Given the description of an element on the screen output the (x, y) to click on. 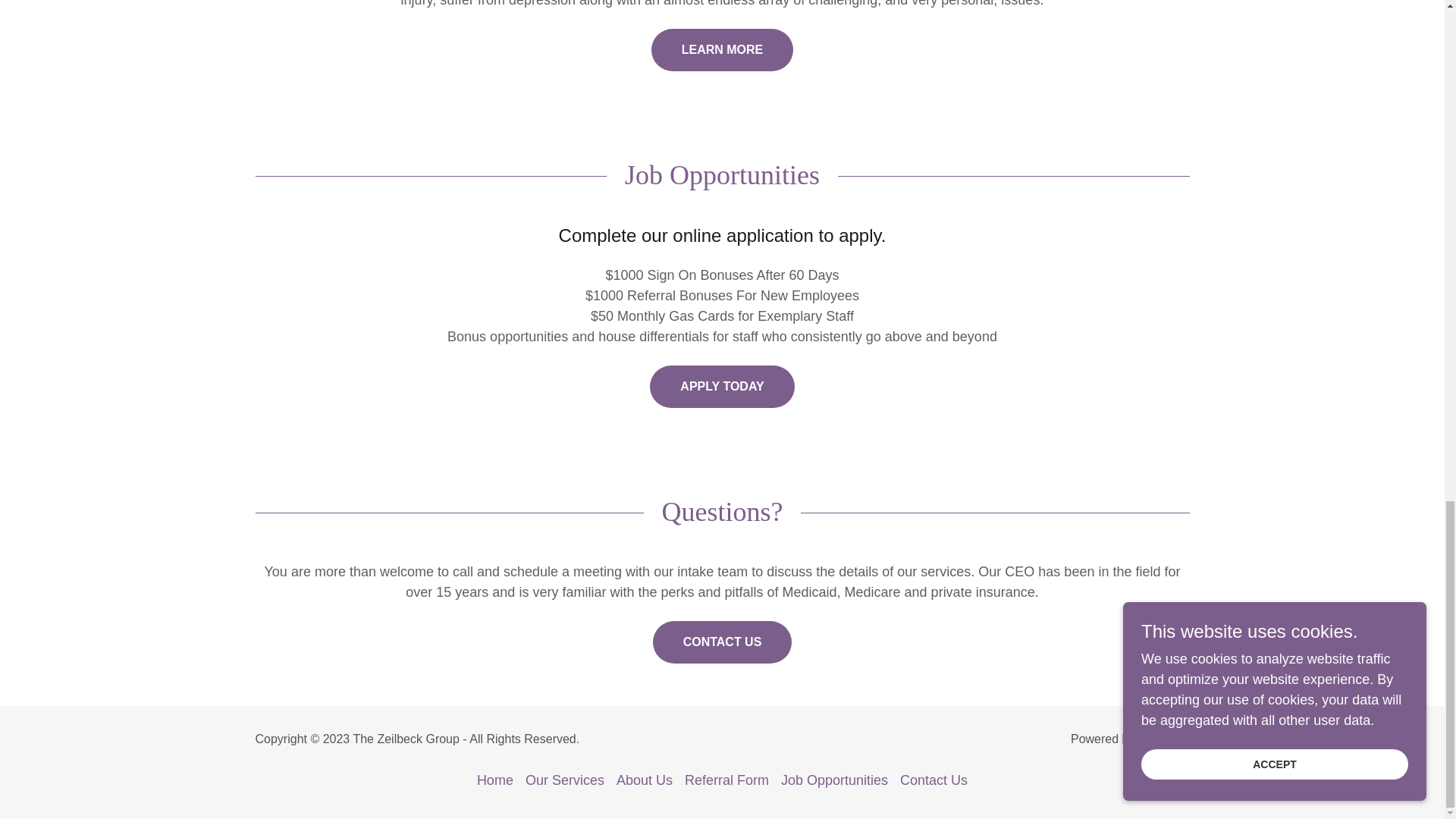
Our Services (564, 780)
Home (494, 780)
GoDaddy (1163, 738)
About Us (644, 780)
Job Opportunities (833, 780)
Contact Us (933, 780)
CONTACT US (722, 641)
LEARN MORE (721, 49)
APPLY TODAY (721, 386)
Referral Form (726, 780)
